Given the description of an element on the screen output the (x, y) to click on. 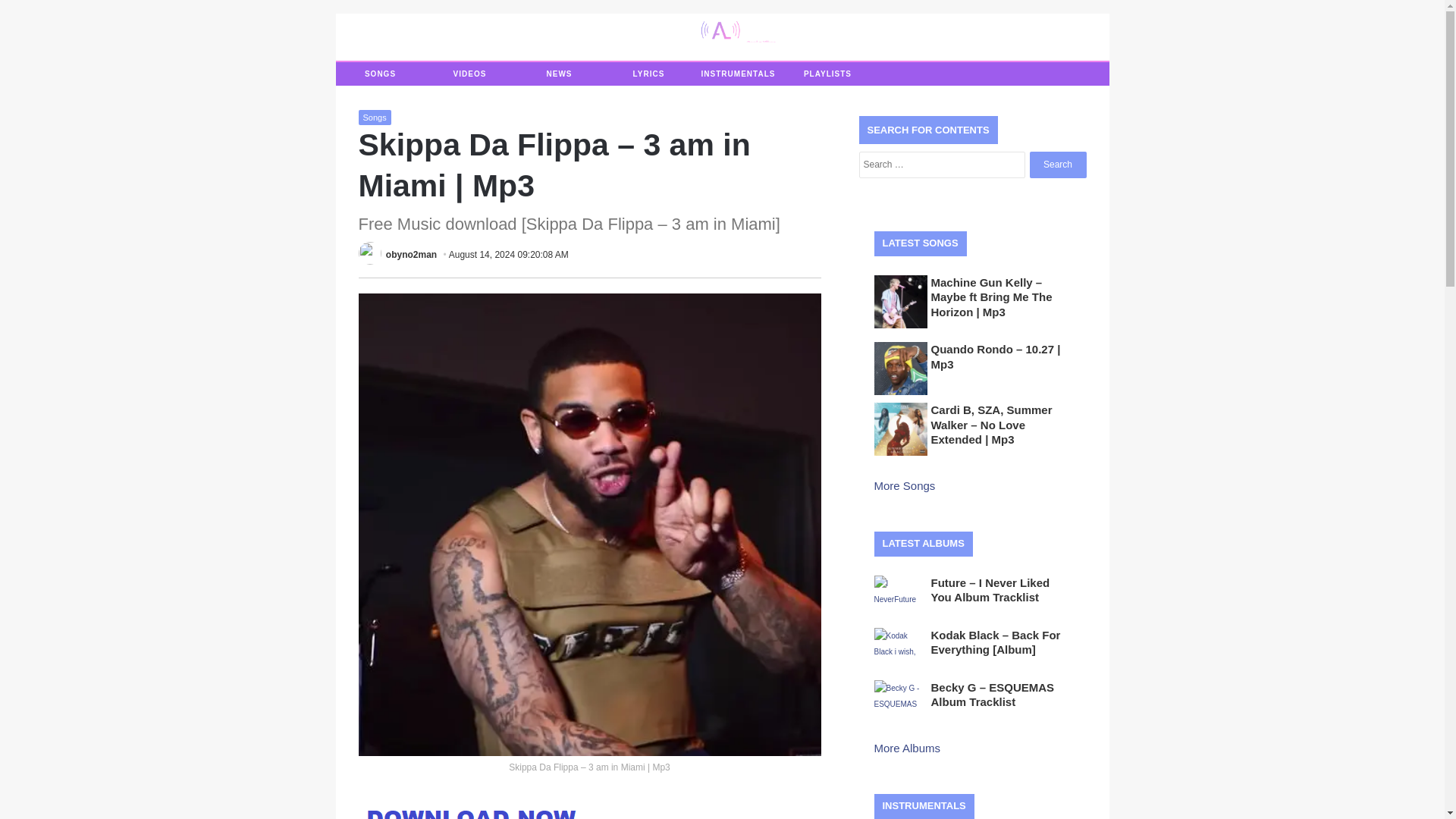
More Songs (905, 485)
Posts by obyno2man (410, 254)
Search (1057, 164)
Search (1057, 164)
INSTRUMENTALS (738, 73)
LYRICS (648, 73)
More Albums (908, 748)
VIDEOS (469, 73)
Songs (374, 117)
SONGS (379, 73)
